Given the description of an element on the screen output the (x, y) to click on. 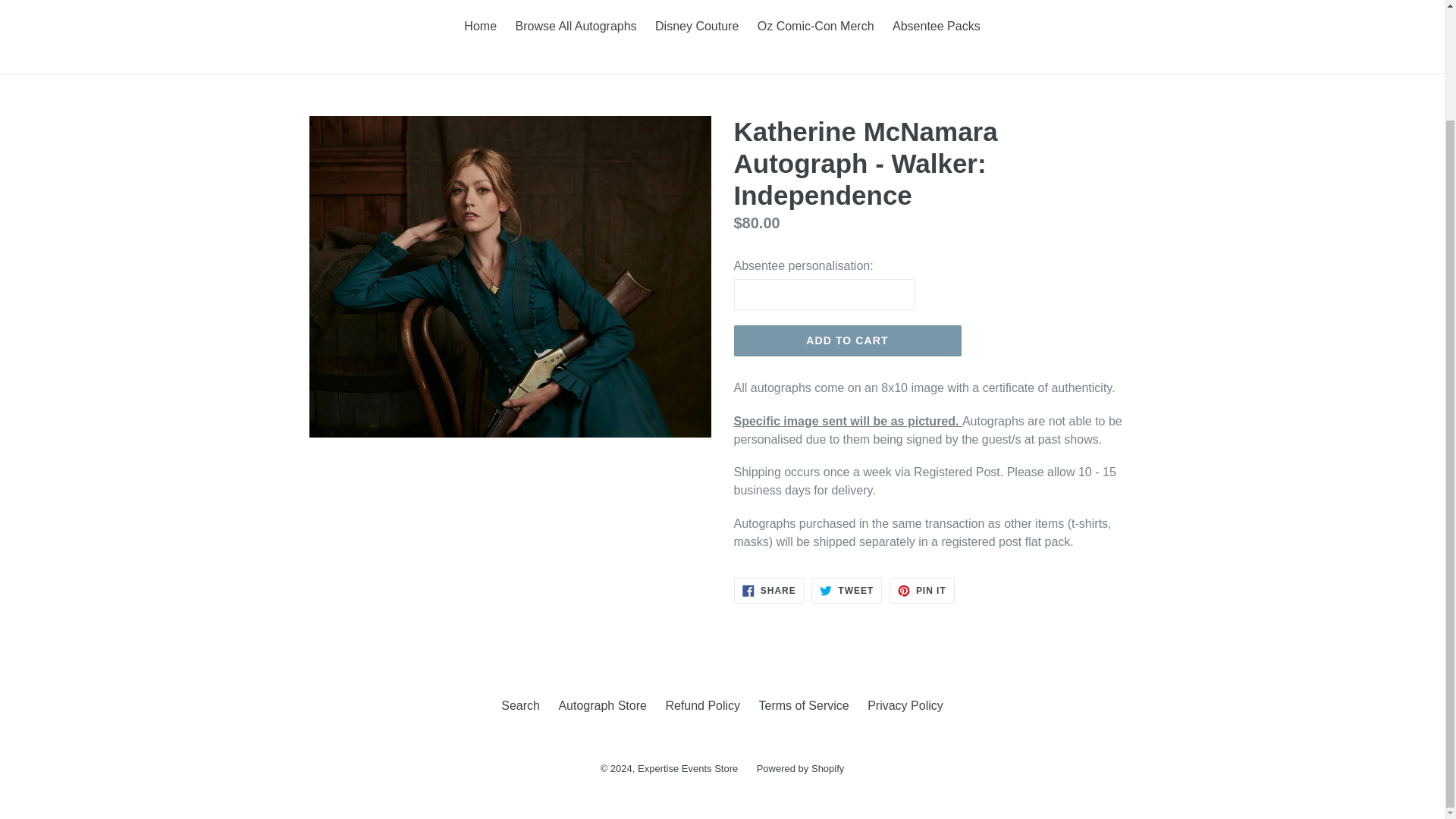
Pin on Pinterest (922, 590)
Autograph Store (601, 705)
ADD TO CART (846, 590)
Oz Comic-Con Merch (846, 341)
Browse All Autographs (769, 590)
Refund Policy (815, 27)
Home (574, 27)
Share on Facebook (702, 705)
Expertise Events Store (922, 590)
Tweet on Twitter (480, 27)
Powered by Shopify (769, 590)
Terms of Service (687, 767)
